Given the description of an element on the screen output the (x, y) to click on. 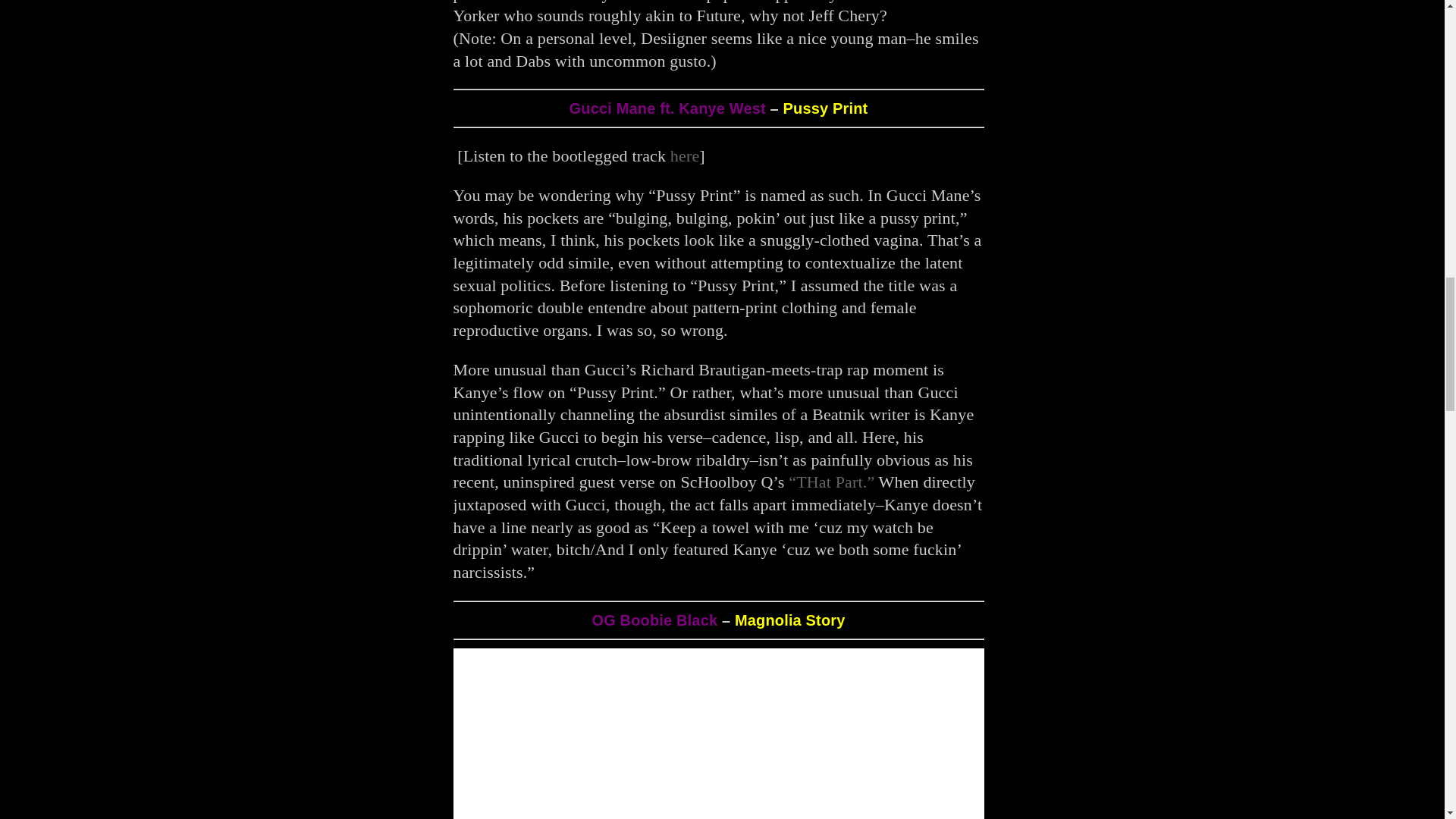
here (684, 155)
